Given the description of an element on the screen output the (x, y) to click on. 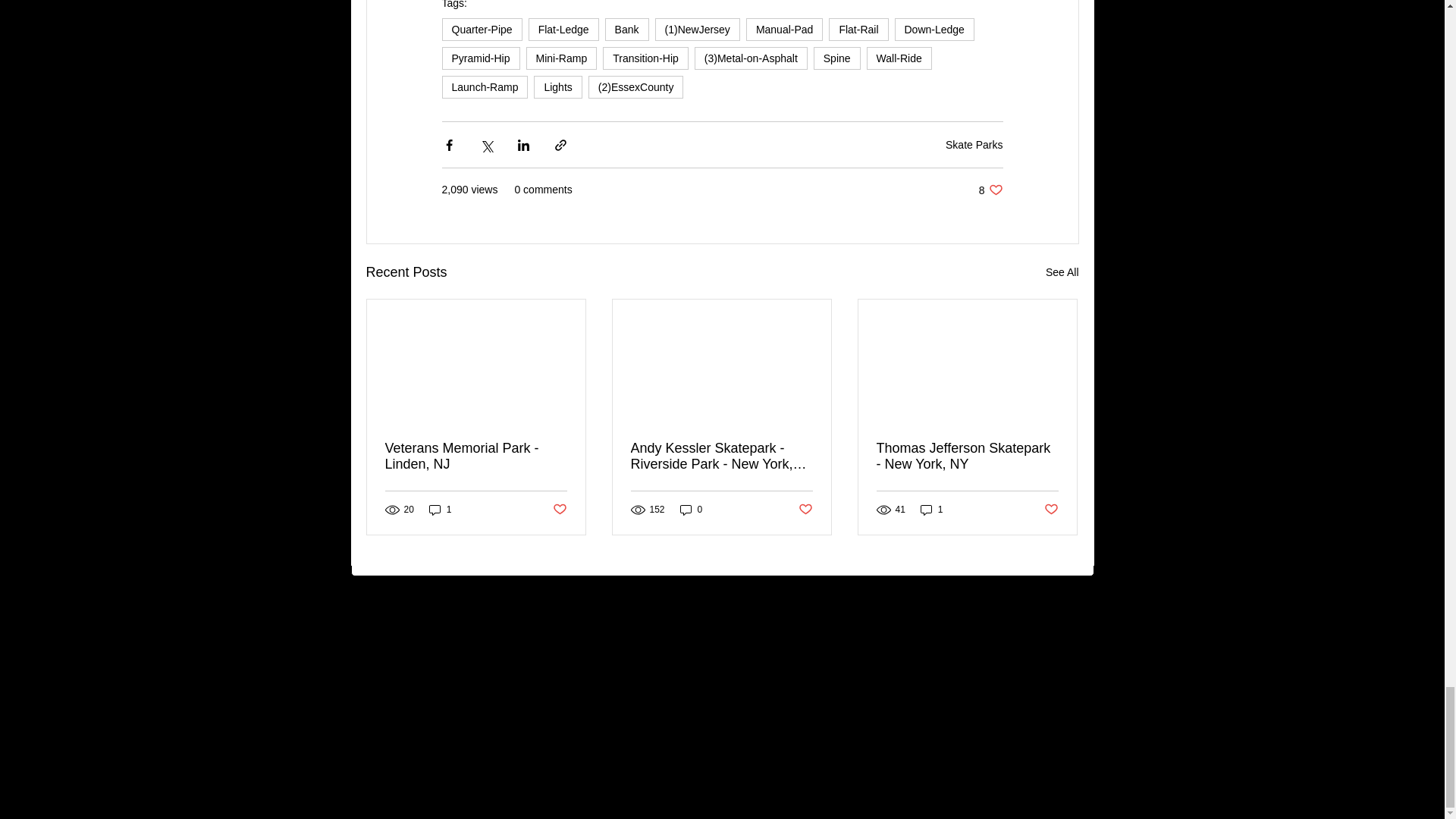
Lights (990, 189)
Transition-Hip (557, 87)
Spine (645, 57)
Flat-Rail (836, 57)
Pyramid-Hip (858, 29)
Skate Parks (480, 57)
Flat-Ledge (973, 143)
Down-Ledge (563, 29)
Veterans Memorial Park - Linden, NJ (934, 29)
Manual-Pad (476, 456)
Wall-Ride (784, 29)
Quarter-Pipe (898, 57)
Mini-Ramp (481, 29)
Launch-Ramp (560, 57)
